Given the description of an element on the screen output the (x, y) to click on. 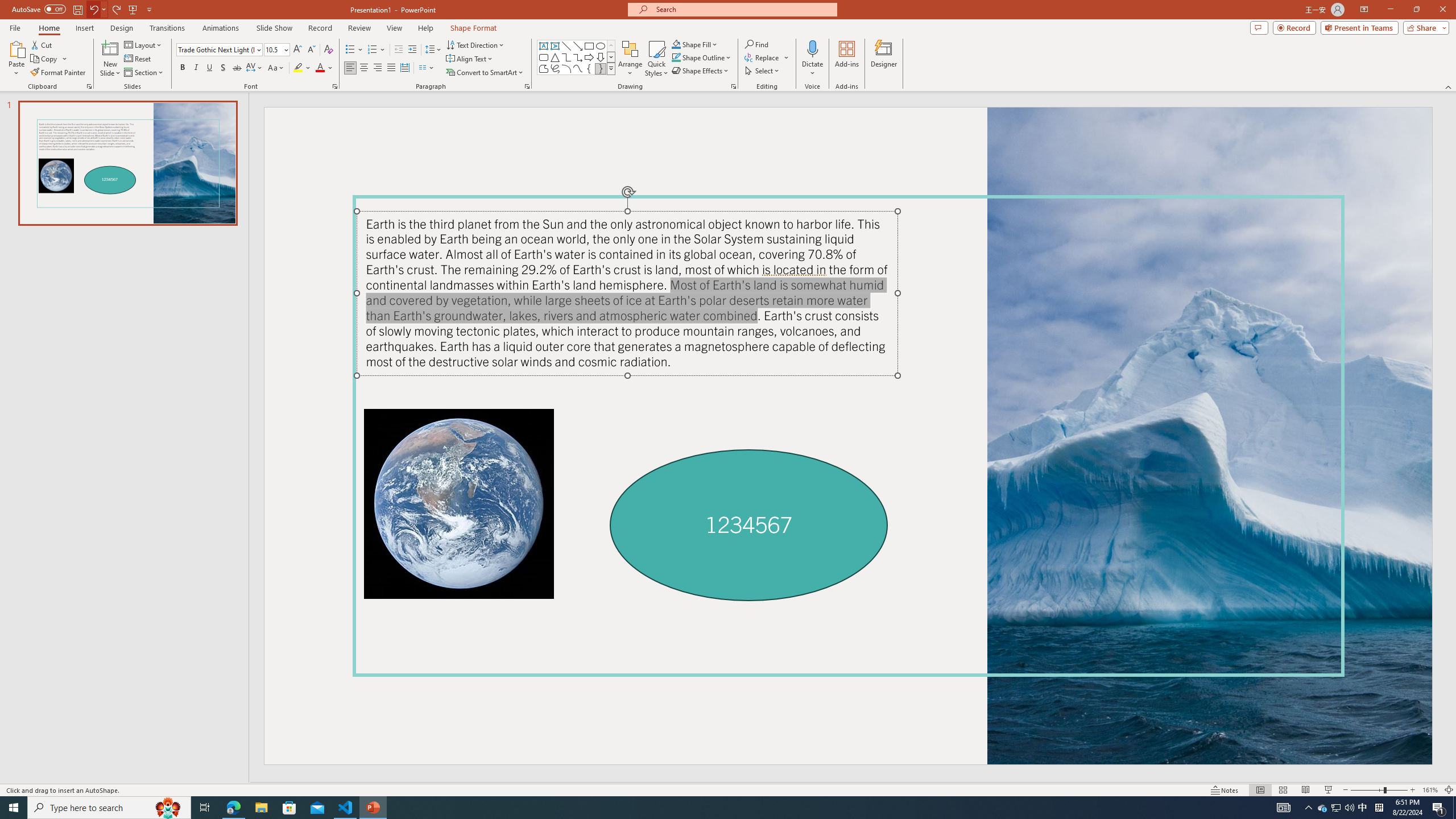
Open (285, 49)
Paragraph... (526, 85)
Columns (426, 67)
Increase Indent (412, 49)
Rectangle (589, 45)
Line (566, 45)
Right Brace (600, 68)
Align Text (470, 58)
Shape Fill (694, 44)
